Given the description of an element on the screen output the (x, y) to click on. 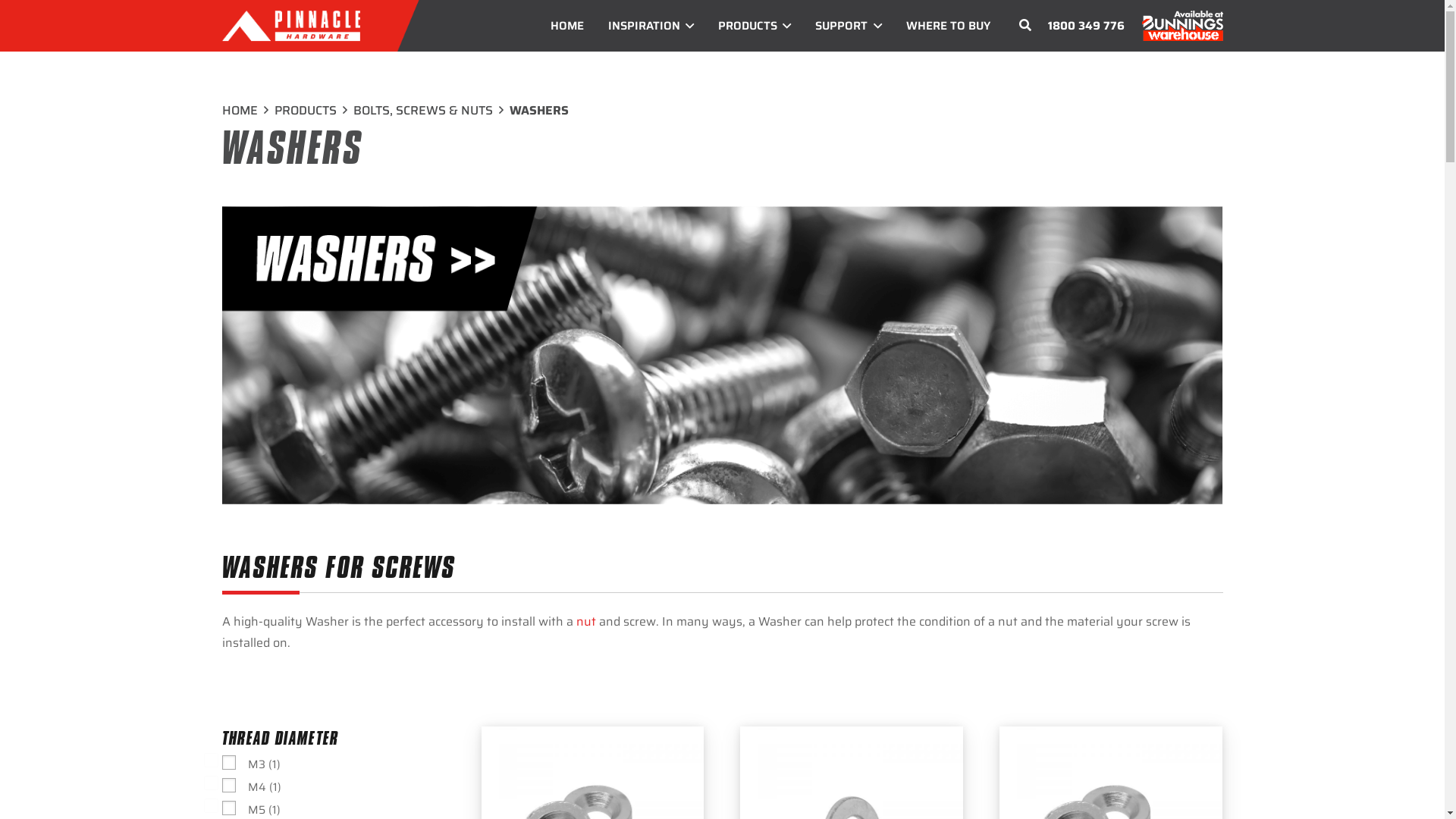
INSPIRATION Element type: text (651, 25)
HOME Element type: text (239, 109)
WHERE TO BUY Element type: text (948, 25)
HOME Element type: text (567, 25)
PRODUCTS Element type: text (305, 109)
1800 349 776 Element type: text (1086, 25)
nut Element type: text (586, 620)
BOLTS, SCREWS & NUTS Element type: text (422, 109)
PRODUCTS Element type: text (754, 25)
SUPPORT Element type: text (848, 25)
